Given the description of an element on the screen output the (x, y) to click on. 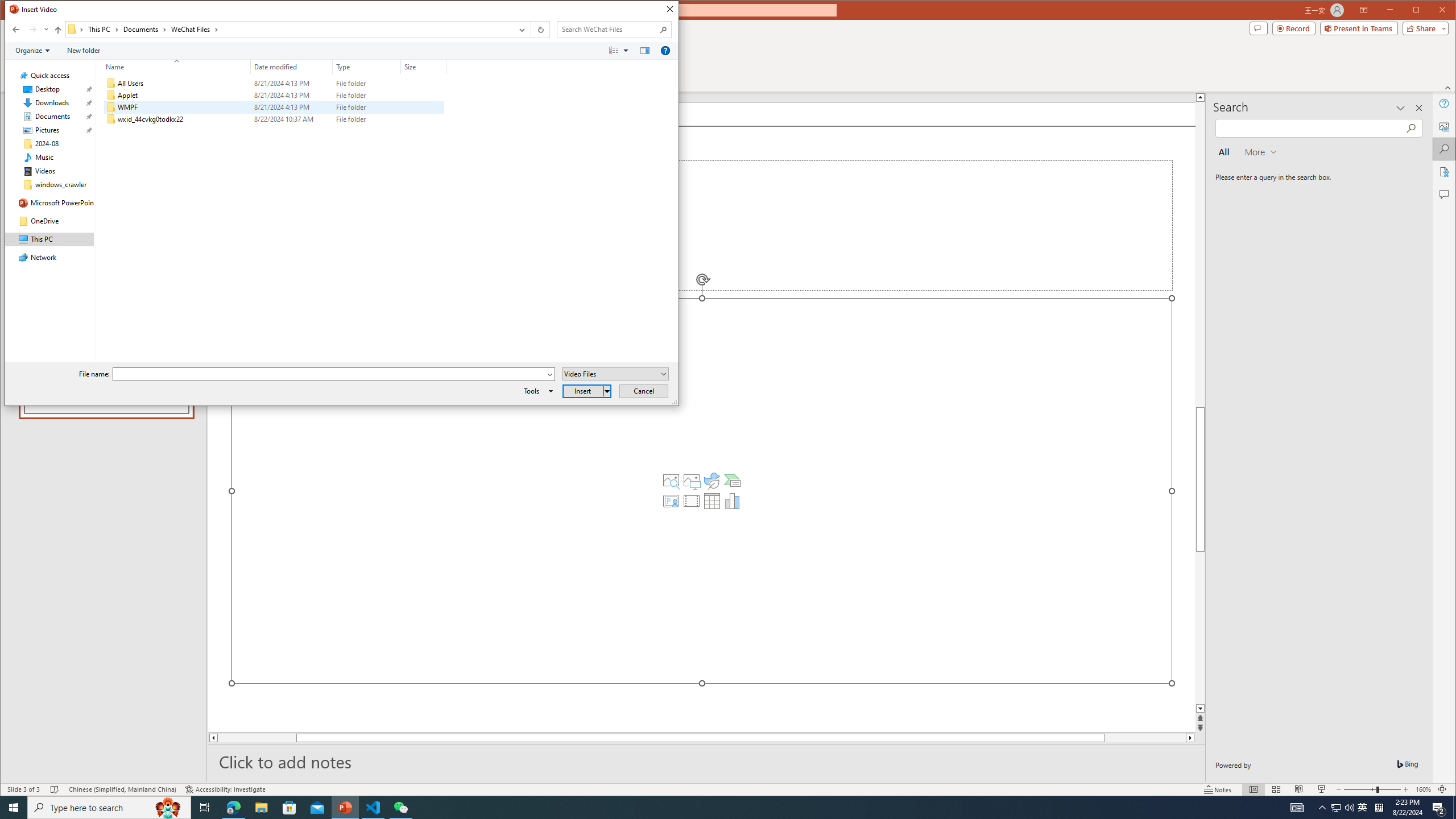
New folder (83, 50)
Action Center, 2 new notifications (1439, 807)
Date modified (291, 119)
Alt Text (1444, 125)
File name: (333, 373)
Date modified (291, 66)
All Users (273, 83)
Command Module (341, 50)
